Given the description of an element on the screen output the (x, y) to click on. 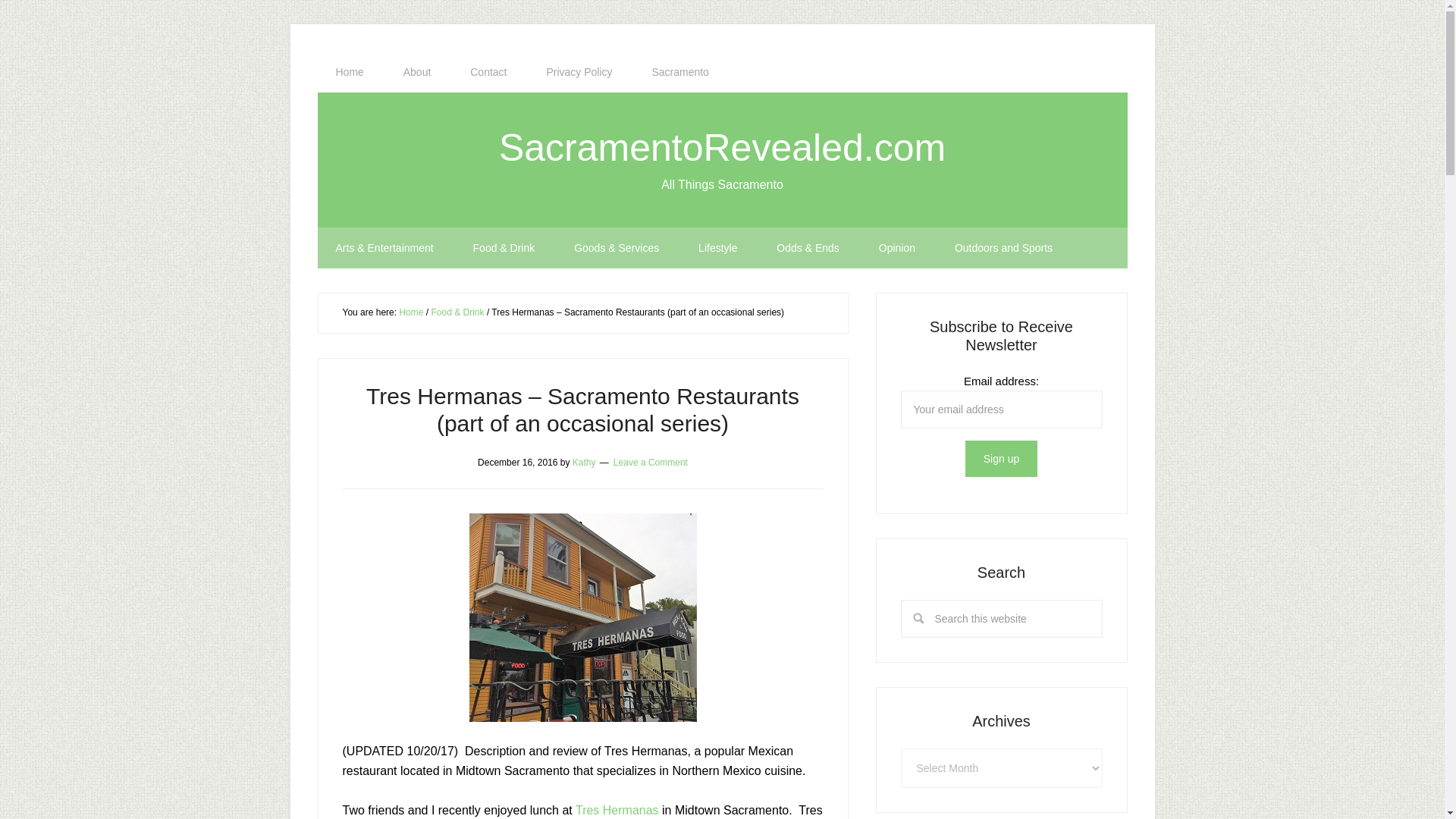
Outdoors and Sports (1003, 247)
Opinion (896, 247)
Leave a Comment (649, 461)
Home (349, 71)
Lifestyle (717, 247)
Sign up (1000, 458)
Kathy (583, 461)
SacramentoRevealed.com (721, 147)
Sacramento (679, 71)
Sign up (1000, 458)
Tres Hermanas (617, 809)
Privacy Policy (578, 71)
